Given the description of an element on the screen output the (x, y) to click on. 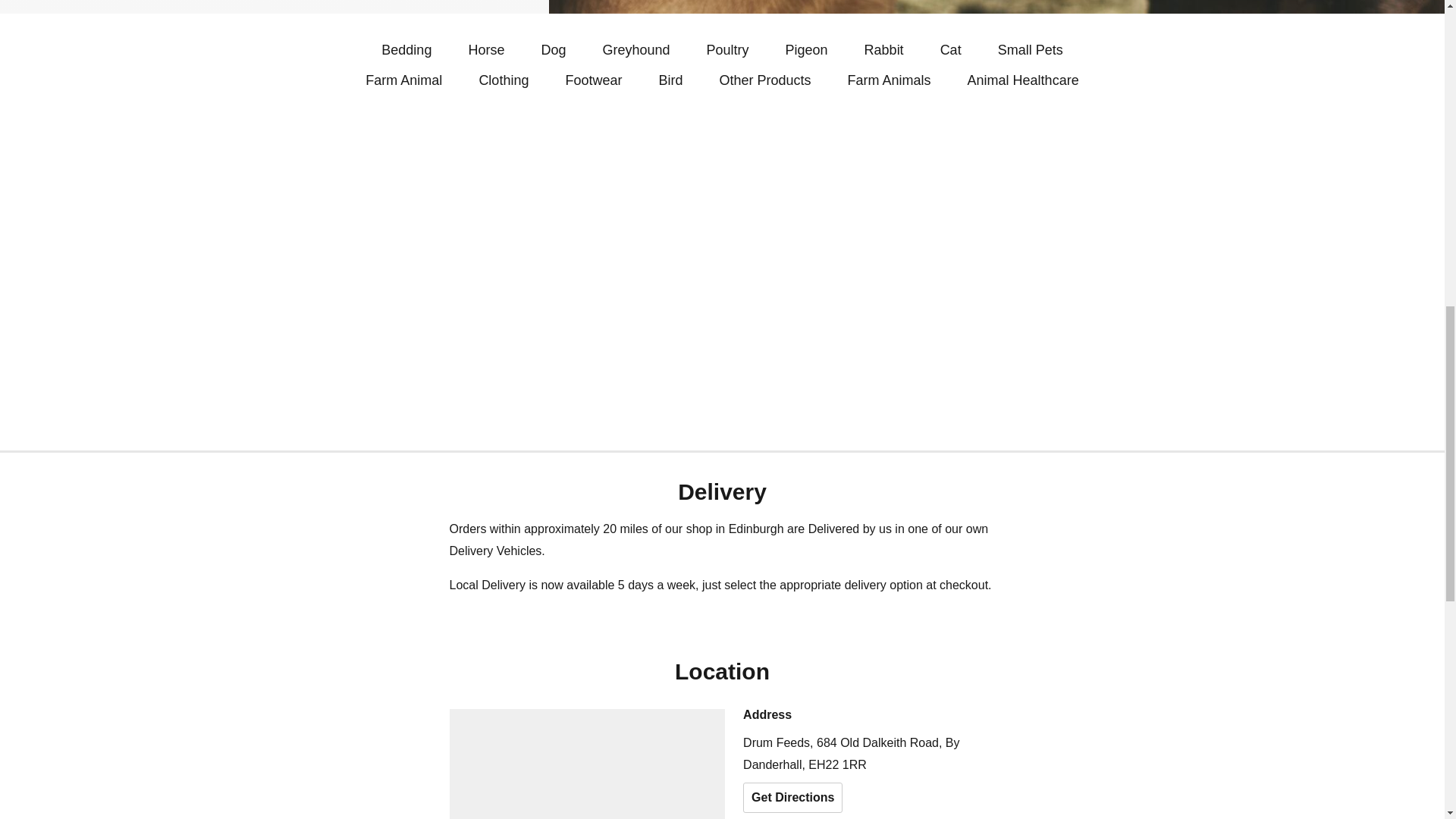
Dog (553, 49)
Pigeon (807, 49)
Bedding (405, 49)
Poultry (727, 49)
Greyhound (635, 49)
Location on map (586, 764)
Horse (485, 49)
